Given the description of an element on the screen output the (x, y) to click on. 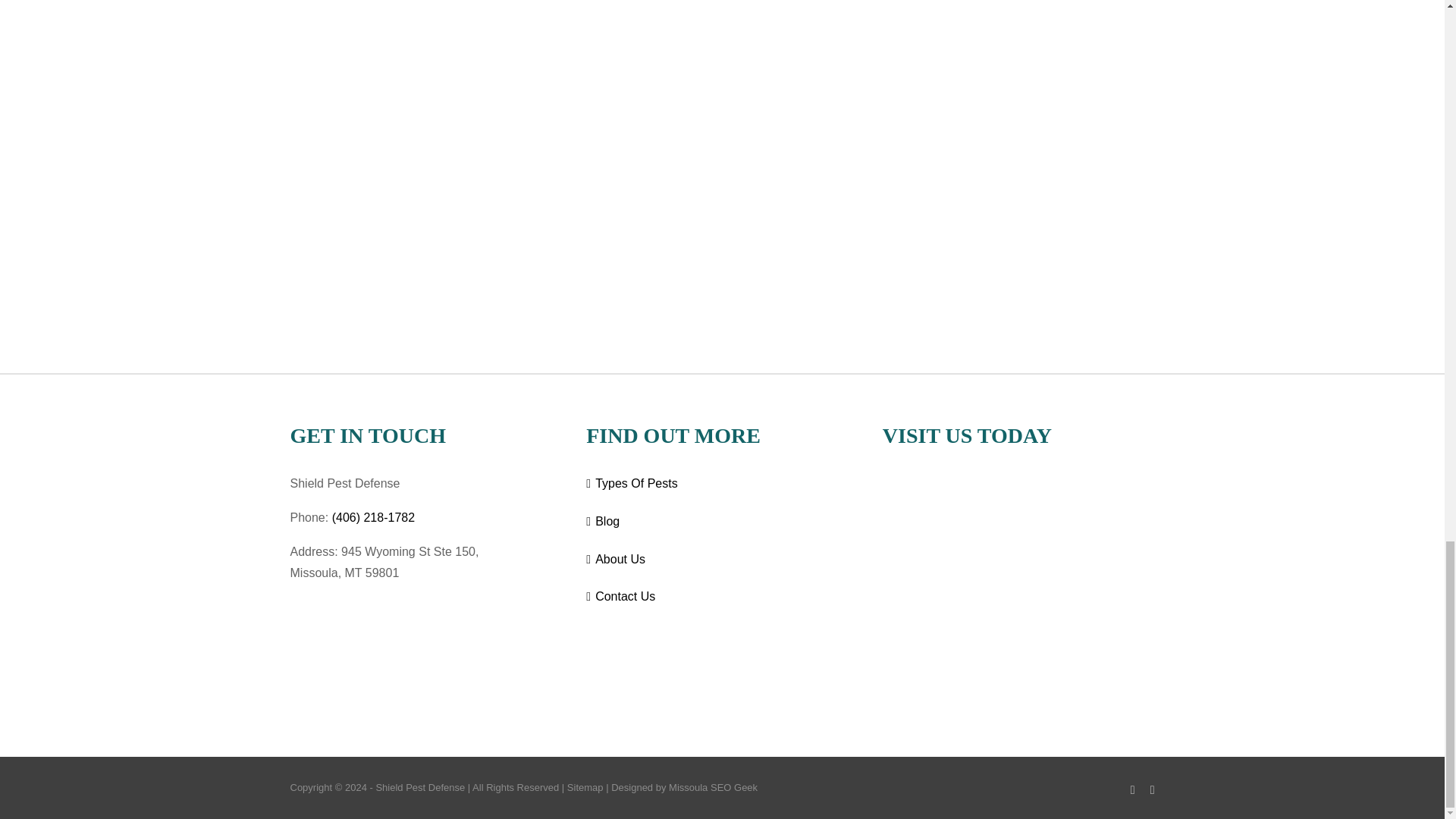
Missoula SEO Geek (712, 787)
Blog (722, 522)
Contact Us (722, 597)
About Us (722, 559)
Types Of Pests (722, 484)
Sitemap (585, 787)
